Given the description of an element on the screen output the (x, y) to click on. 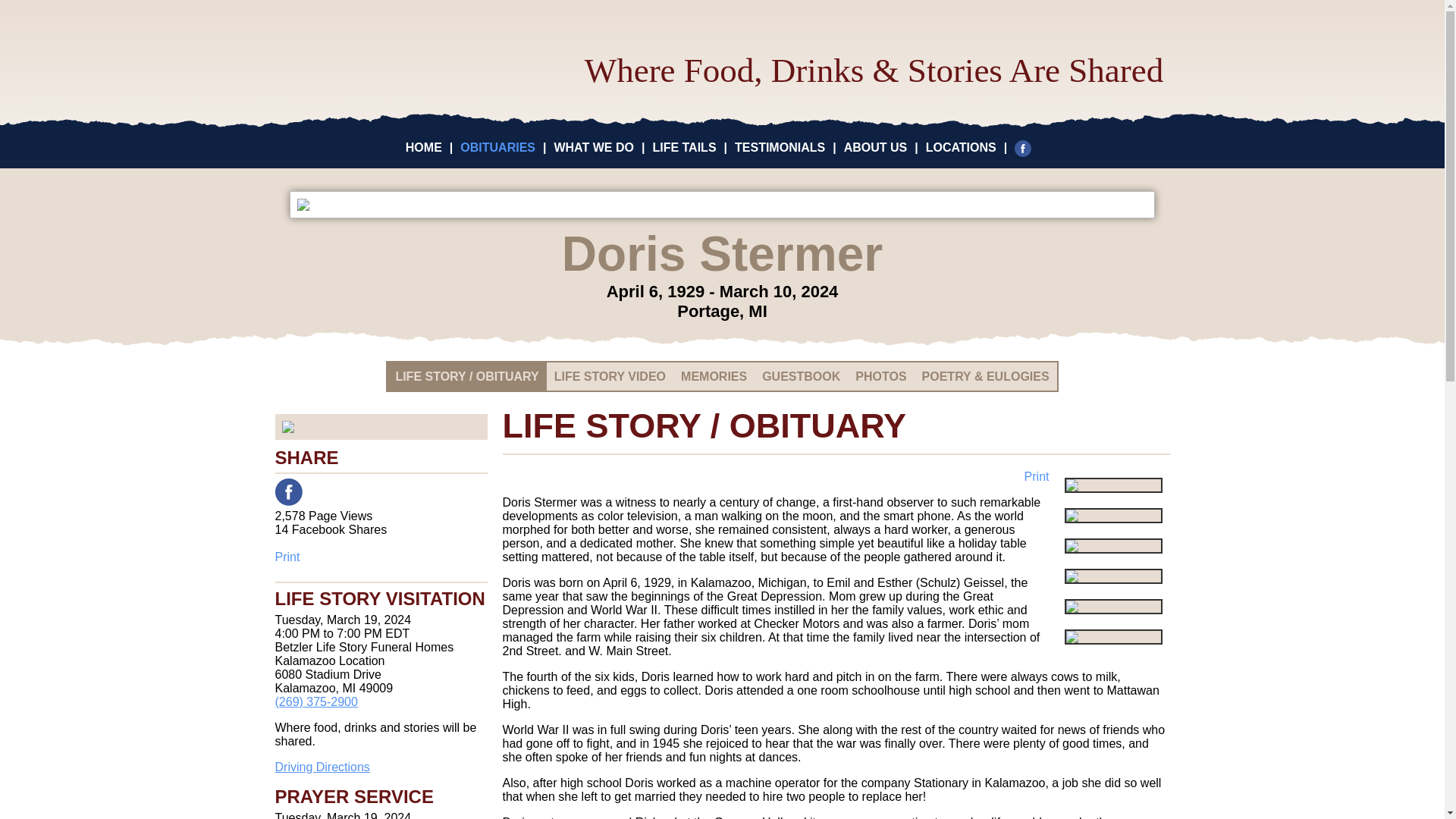
ABOUT US (875, 146)
PHOTOS (880, 376)
Doris Stermer picture 1 (1112, 515)
Doris Stermer Life Panel (721, 204)
LOCATIONS (960, 146)
Download Folder (1112, 636)
Doris Stermer picture 4 (1112, 606)
GUESTBOOK (800, 376)
Doris Stermer picture 2 (1112, 545)
MEMORIES (713, 376)
Email (357, 492)
HOME (424, 146)
Print (380, 557)
Twitter (322, 492)
View Life Story Video (1112, 485)
